Given the description of an element on the screen output the (x, y) to click on. 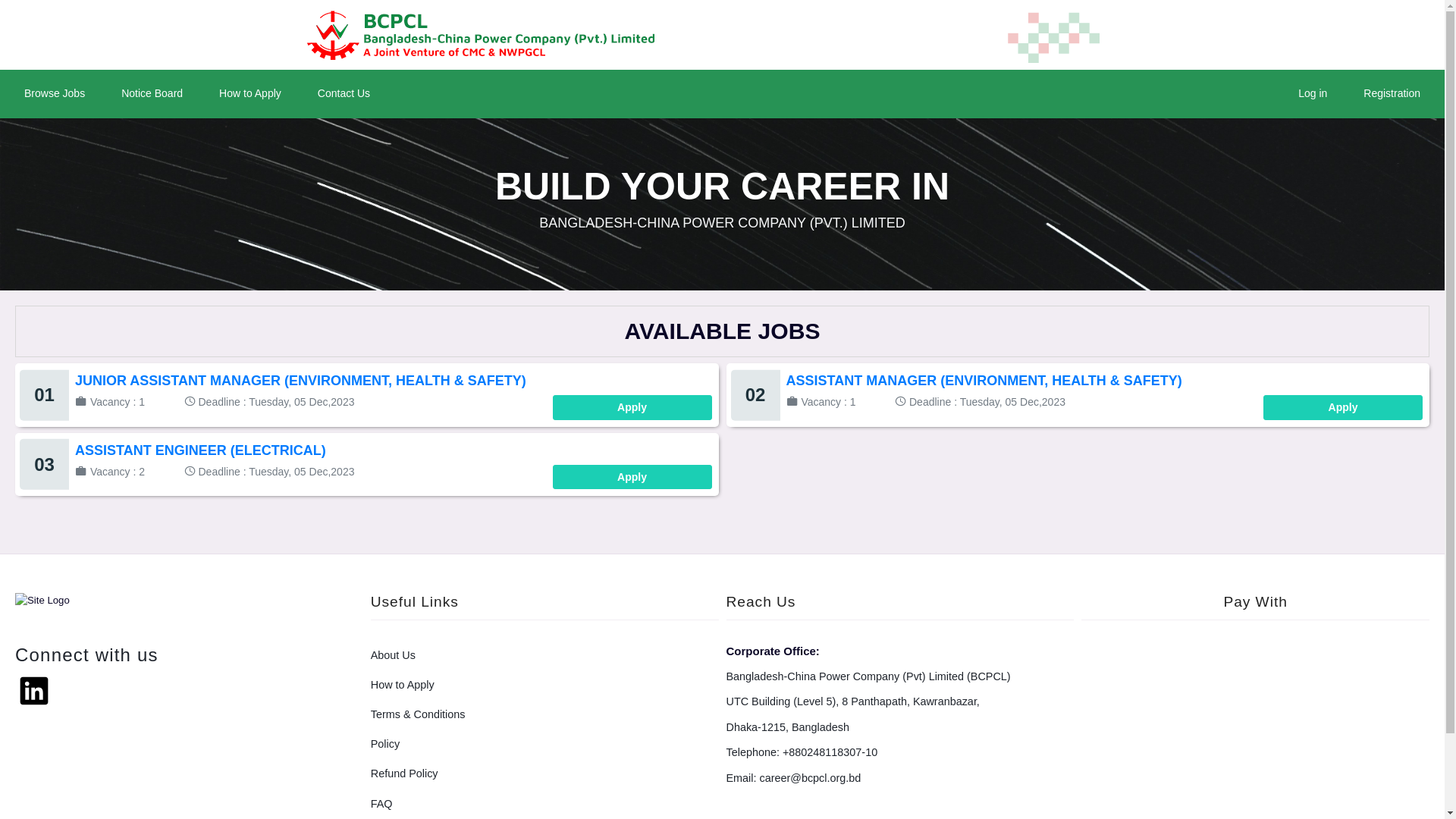
Browse Jobs Element type: text (54, 93)
How to Apply Element type: text (249, 93)
FAQ Element type: text (544, 804)
Registration Element type: text (1391, 93)
ASSISTANT MANAGER (ENVIRONMENT, HEALTH & SAFETY) Element type: text (983, 380)
Refund Policy Element type: text (544, 773)
Notice Board Element type: text (151, 93)
Policy Element type: text (544, 744)
About Us Element type: text (544, 655)
Contact Us Element type: text (343, 93)
JUNIOR ASSISTANT MANAGER (ENVIRONMENT, HEALTH & SAFETY) Element type: text (300, 380)
Terms & Conditions Element type: text (544, 714)
ASSISTANT ENGINEER (ELECTRICAL) Element type: text (200, 450)
Log in Element type: text (1312, 93)
How to Apply Element type: text (544, 685)
